Given the description of an element on the screen output the (x, y) to click on. 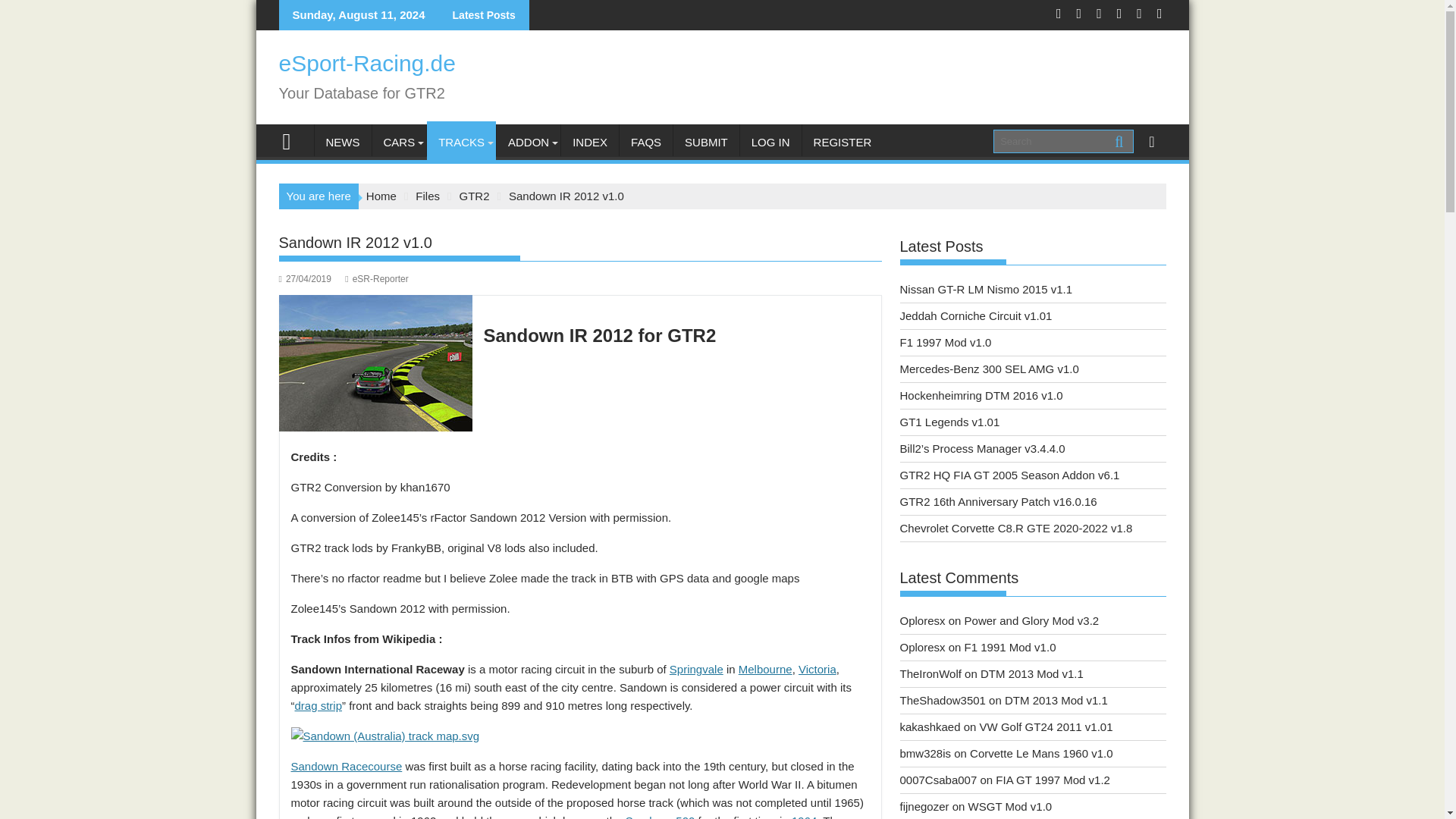
Drag racing (318, 705)
NEWS (342, 142)
TRACKS (461, 142)
eSport-Racing.de (293, 139)
eSport-Racing.de (367, 63)
Sandown Racecourse (347, 766)
Sandown 500 (660, 816)
Springvale, Victoria (696, 668)
CARS (398, 142)
1964 Sandown 6 Hour International (804, 816)
